Given the description of an element on the screen output the (x, y) to click on. 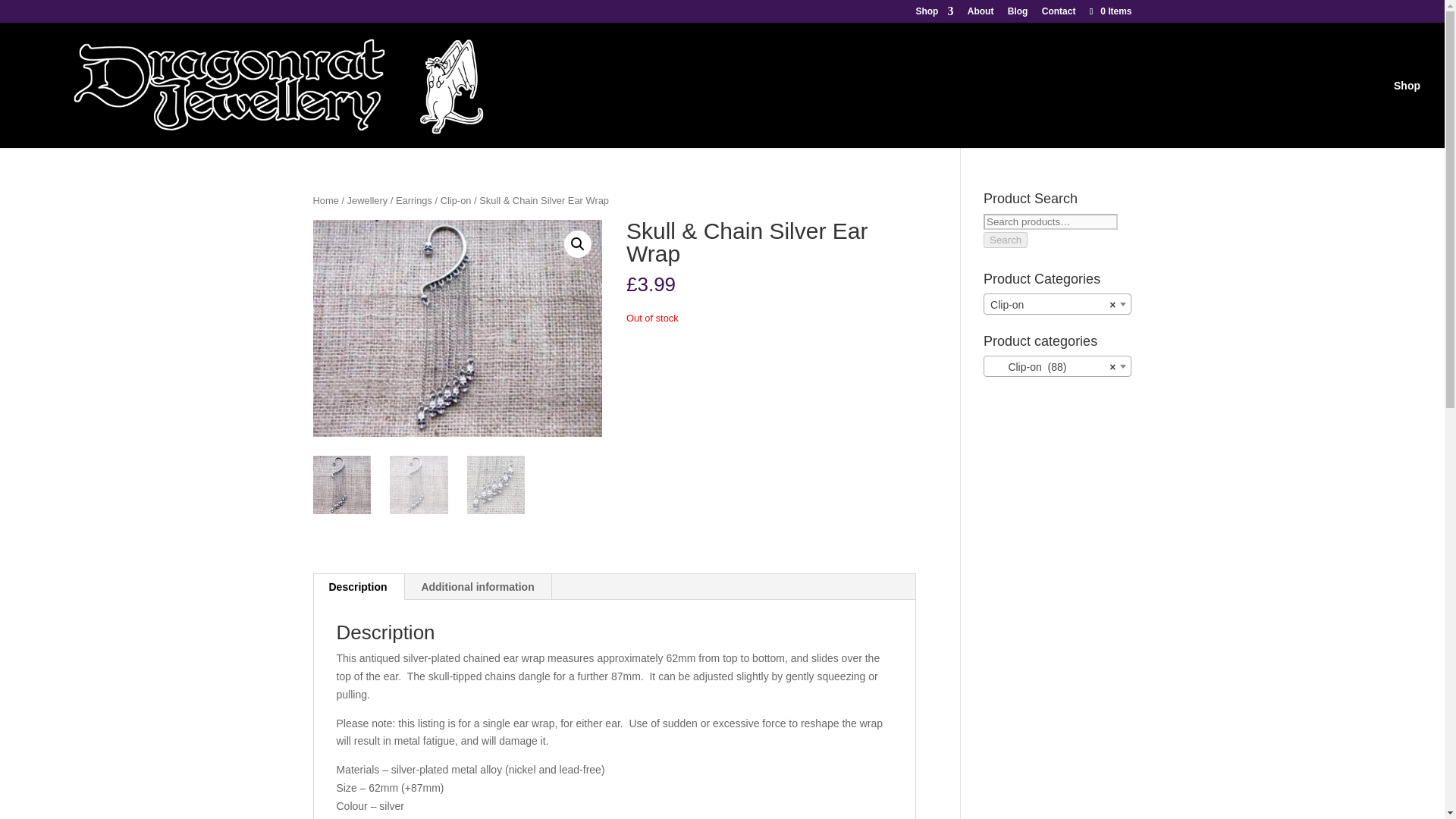
Contact (1058, 14)
About (981, 14)
Blog (1017, 14)
0 Items (1108, 10)
Shop (934, 14)
Clip-on (1057, 304)
skull-chain-silver-ear-cuff (457, 328)
